Given the description of an element on the screen output the (x, y) to click on. 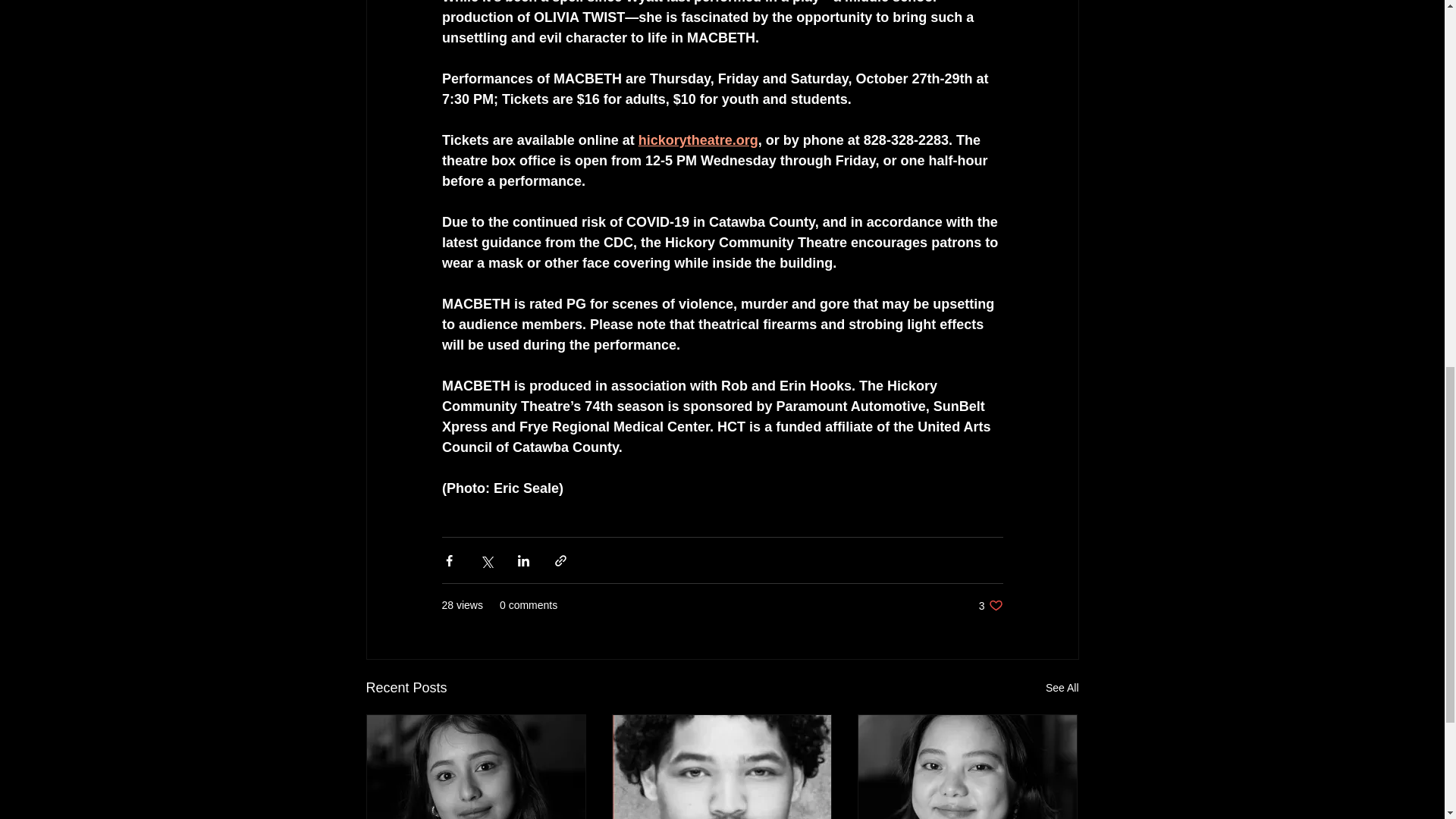
hickorytheatre.org (697, 140)
See All (1061, 688)
